Given the description of an element on the screen output the (x, y) to click on. 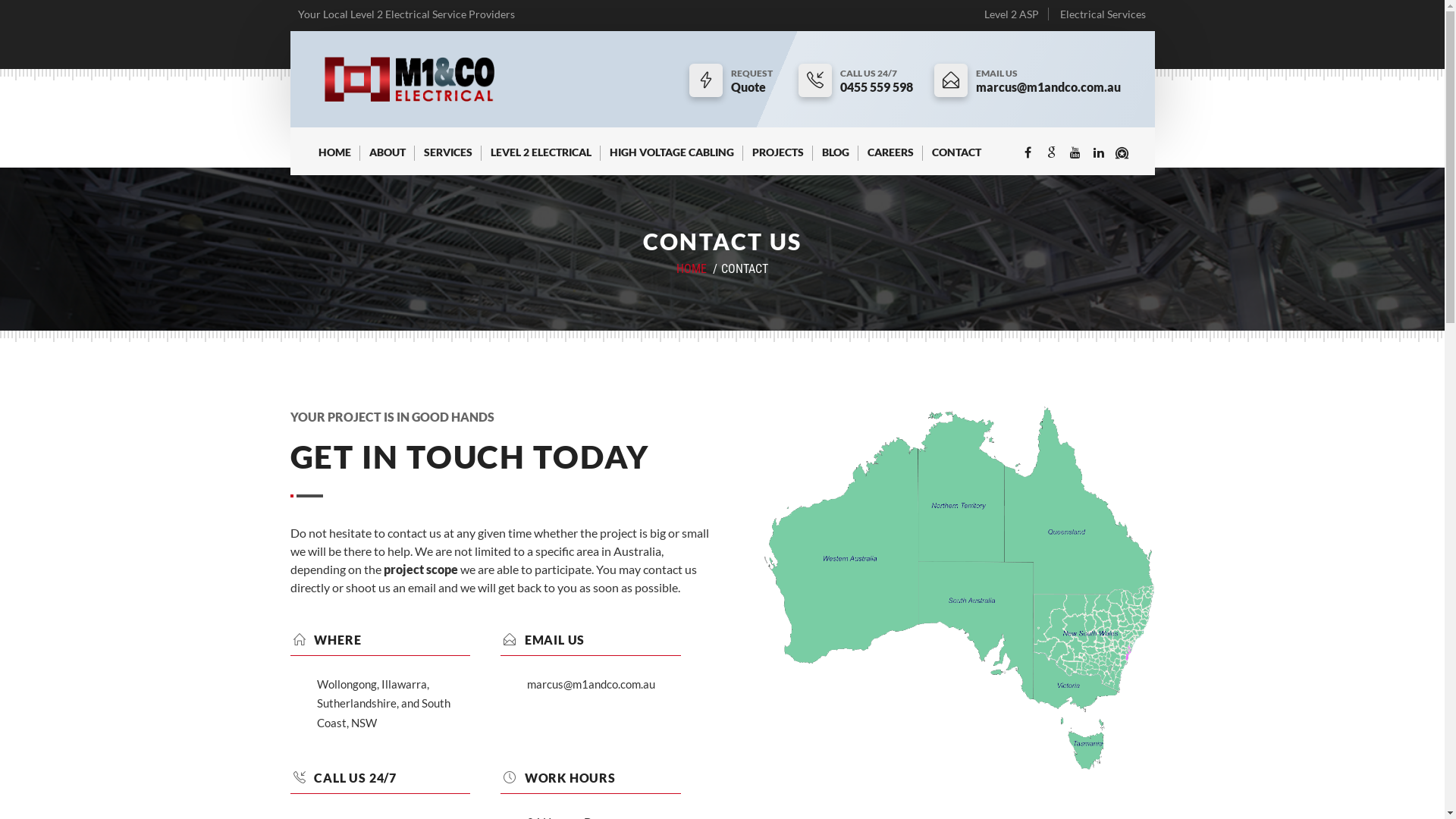
HOME Element type: text (691, 268)
CAREERS Element type: text (890, 158)
Findmag Element type: hover (1121, 153)
PROJECTS Element type: text (777, 158)
CONTACT Element type: text (955, 158)
HIGH VOLTAGE CABLING Element type: text (671, 158)
Electrical Services Element type: text (1102, 13)
SERVICES Element type: text (447, 158)
0455 559 598 Element type: text (876, 86)
marcus@m1andco.com.au Element type: text (1047, 86)
LEVEL 2 ELECTRICAL Element type: text (539, 158)
HOME Element type: text (334, 158)
Level 2 Electrician Wollongong Element type: hover (409, 78)
Level 2 ASP Element type: text (1011, 13)
BLOG Element type: text (835, 158)
Quote Element type: text (754, 86)
ABOUT Element type: text (386, 158)
